Given the description of an element on the screen output the (x, y) to click on. 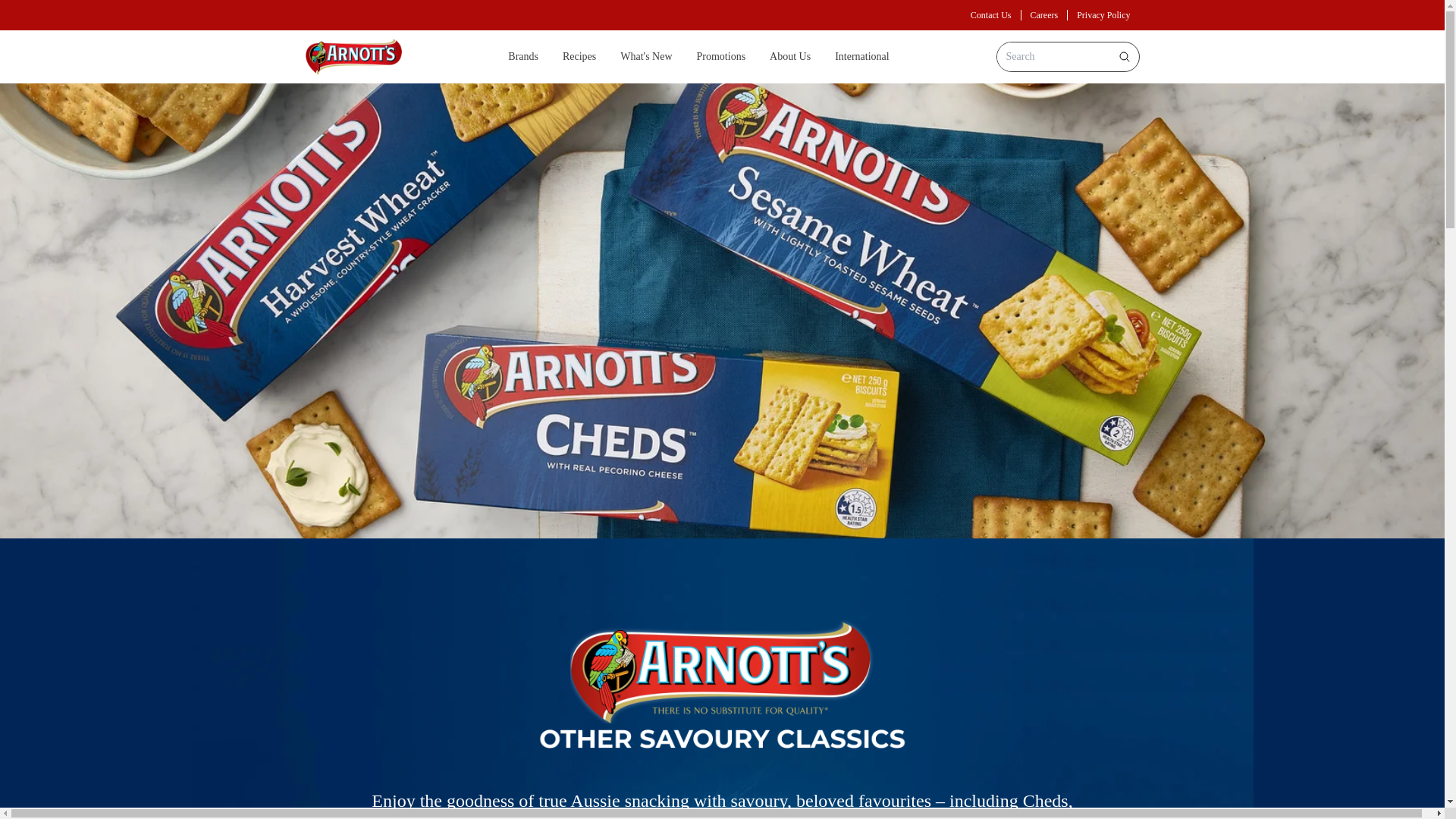
Privacy Policy (1103, 14)
Careers (1044, 14)
What's New (645, 56)
Contact Us (991, 14)
